Given the description of an element on the screen output the (x, y) to click on. 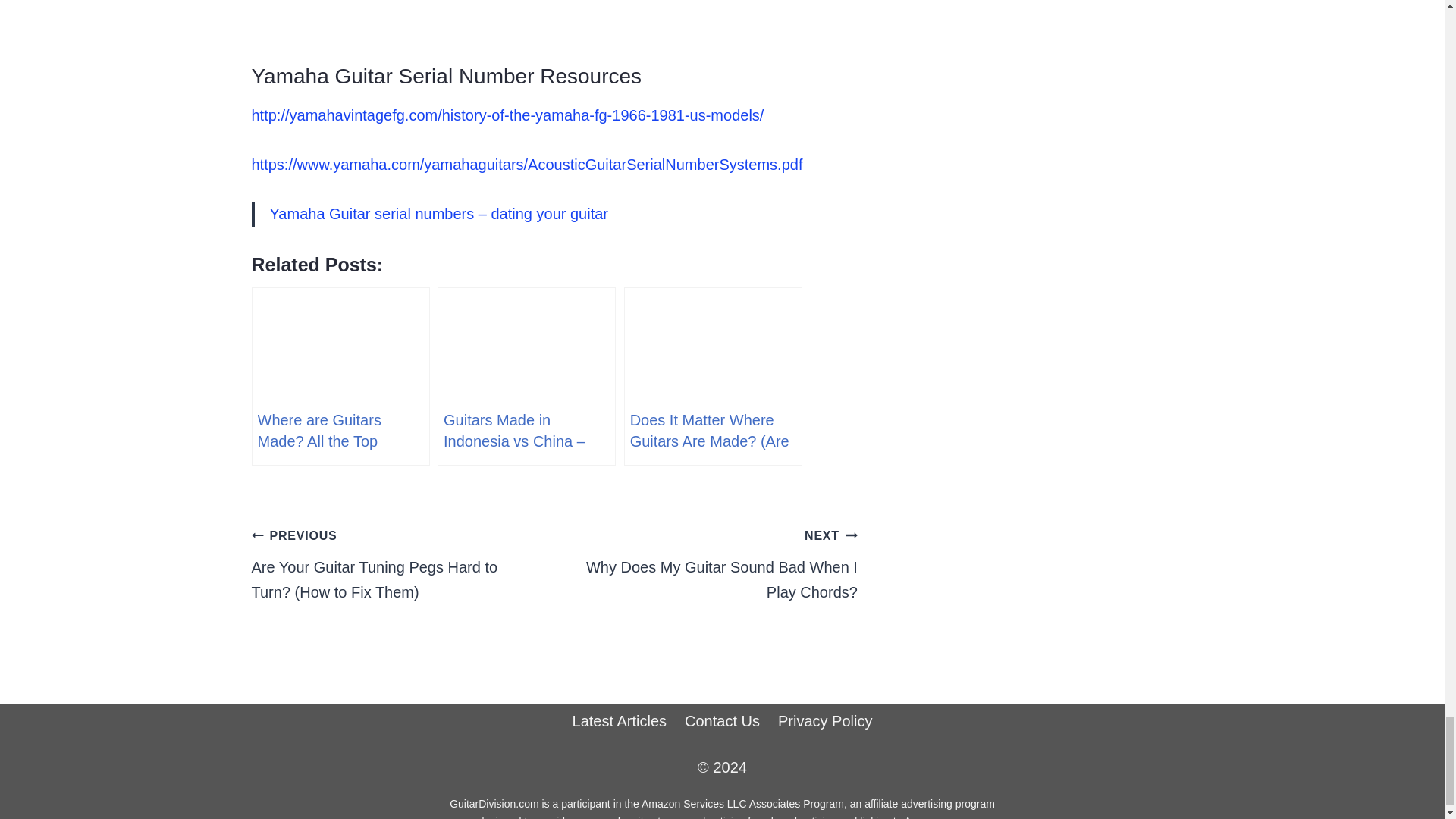
Privacy Policy (824, 721)
Contact Us (721, 721)
Latest Articles (620, 721)
Where are Guitars Made? All the Top Brands (340, 376)
Where are Guitars Made? All the Top Brands (705, 563)
